Given the description of an element on the screen output the (x, y) to click on. 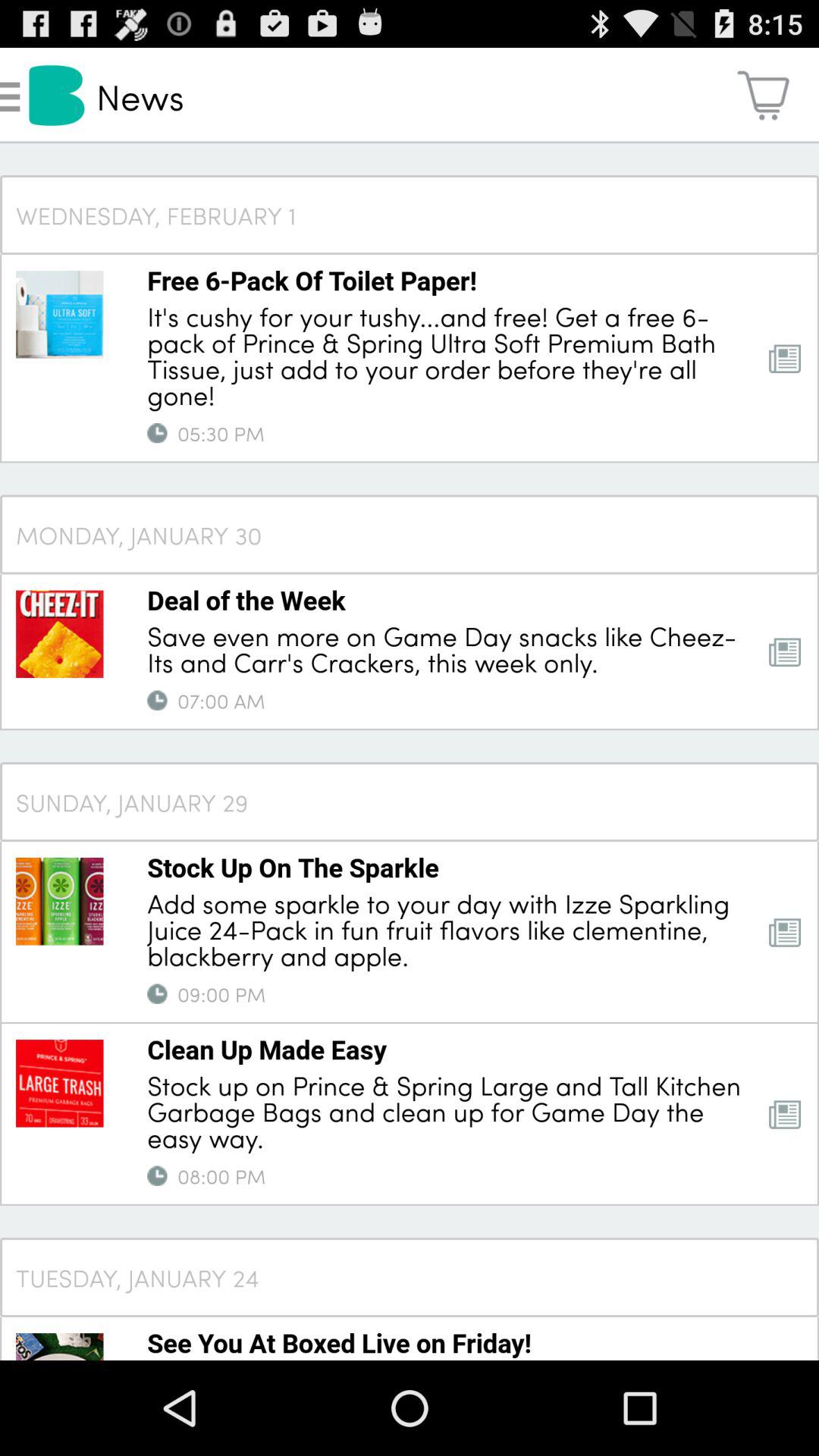
turn off 05:30 pm app (220, 433)
